Given the description of an element on the screen output the (x, y) to click on. 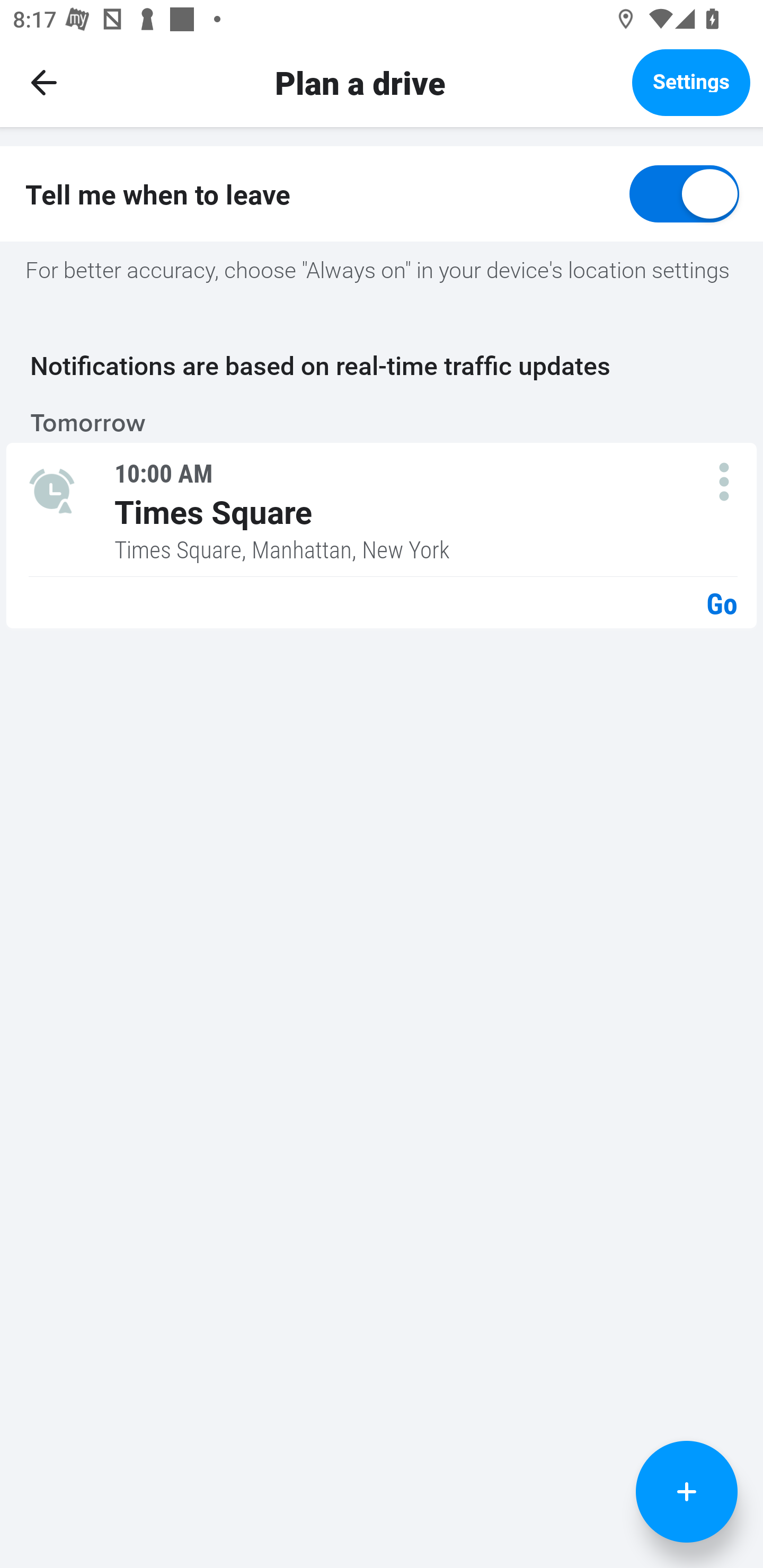
Settings (690, 82)
Hey Wazer! View profile (381, 266)
